Given the description of an element on the screen output the (x, y) to click on. 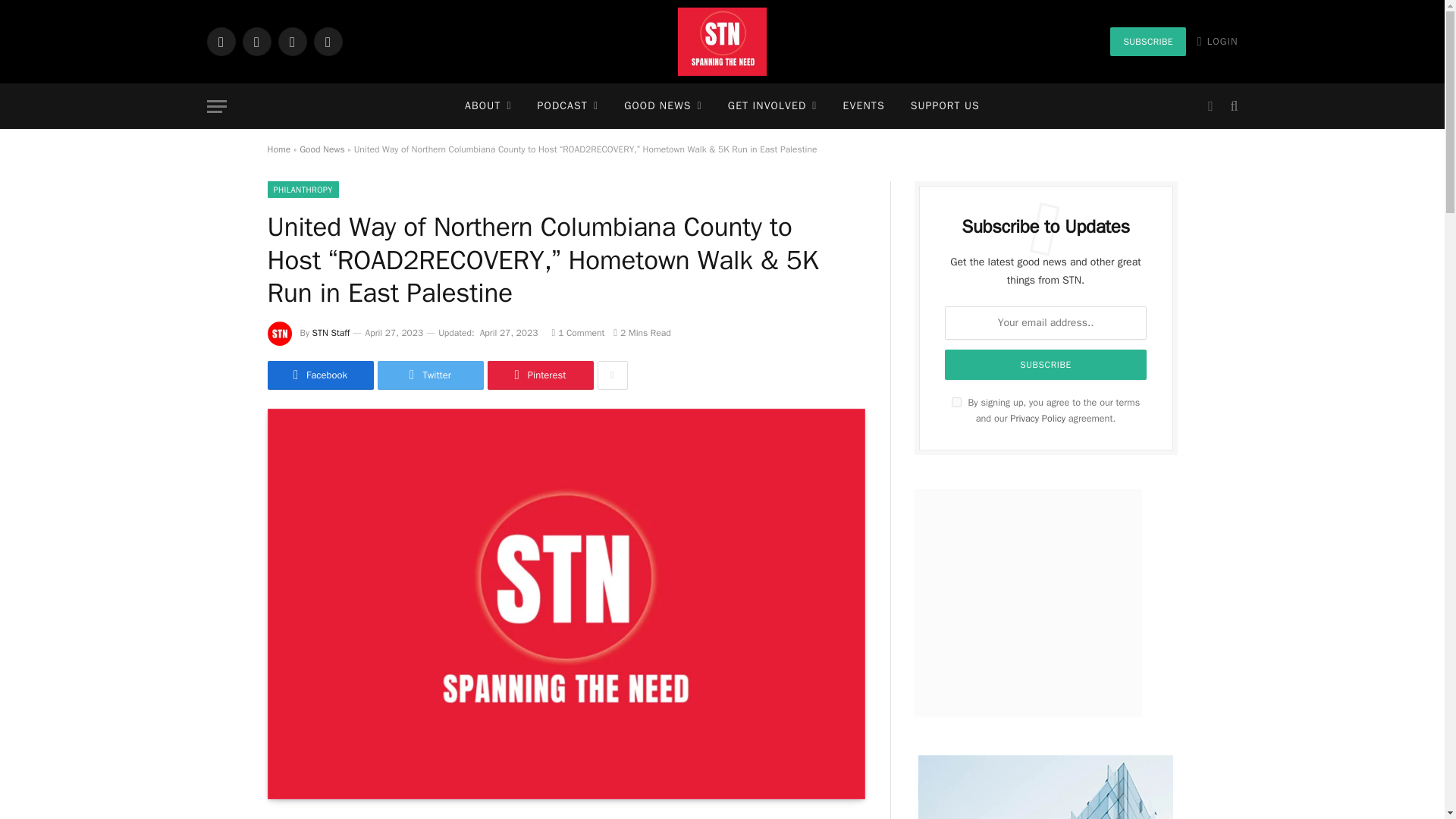
YouTube (328, 41)
on (956, 402)
LOGIN (1217, 41)
SUBSCRIBE (1147, 41)
Spanning the Need: Good News, Inspiring, the Uninspired. (722, 41)
ABOUT (487, 105)
LinkedIn (291, 41)
Instagram (256, 41)
Subscribe (1045, 364)
Facebook (220, 41)
